Given the description of an element on the screen output the (x, y) to click on. 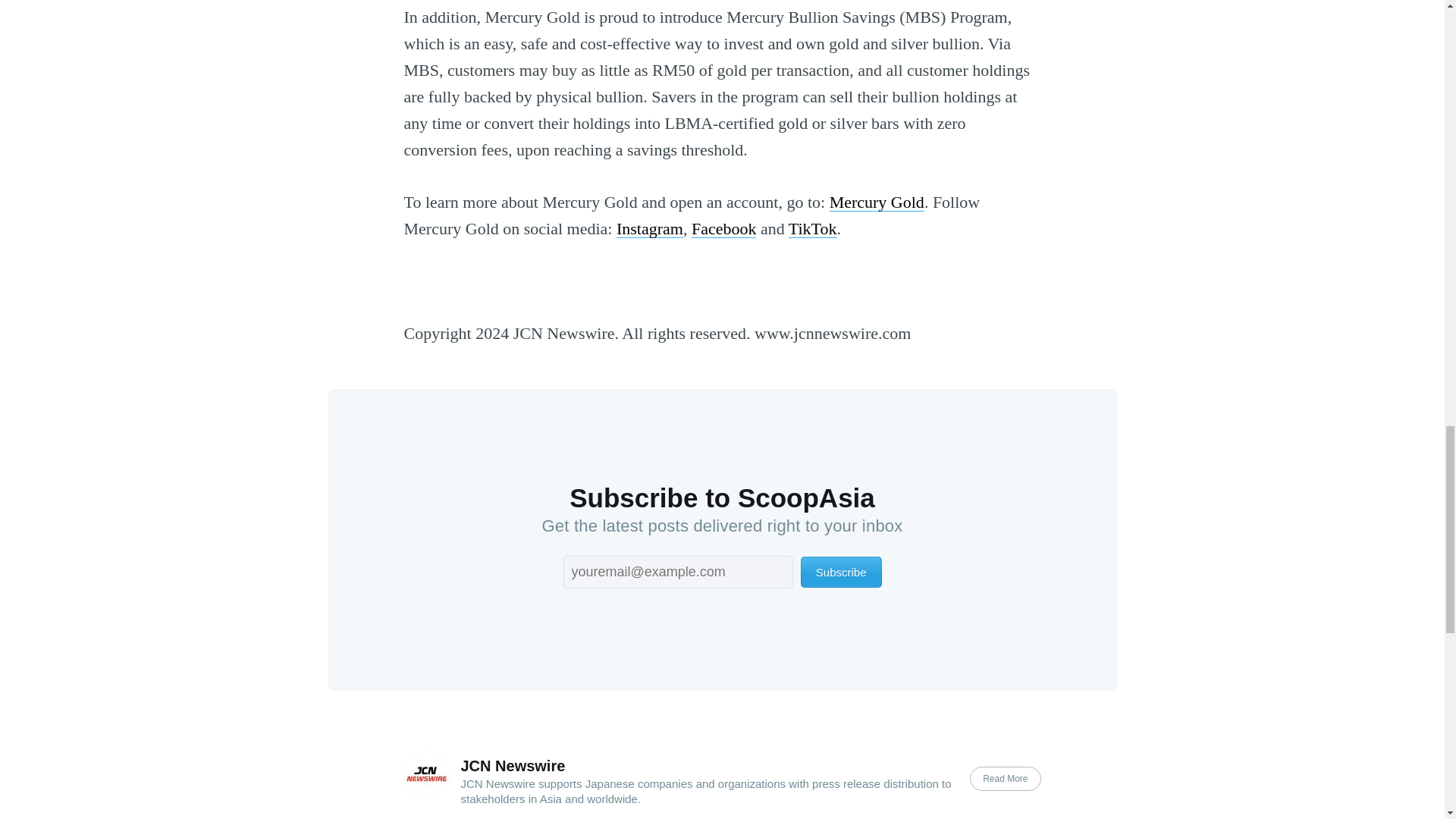
Read More (1005, 778)
JCN Newswire (513, 765)
TikTok (813, 228)
Instagram (648, 228)
Subscribe (841, 572)
Mercury Gold (876, 201)
Facebook (724, 228)
